Given the description of an element on the screen output the (x, y) to click on. 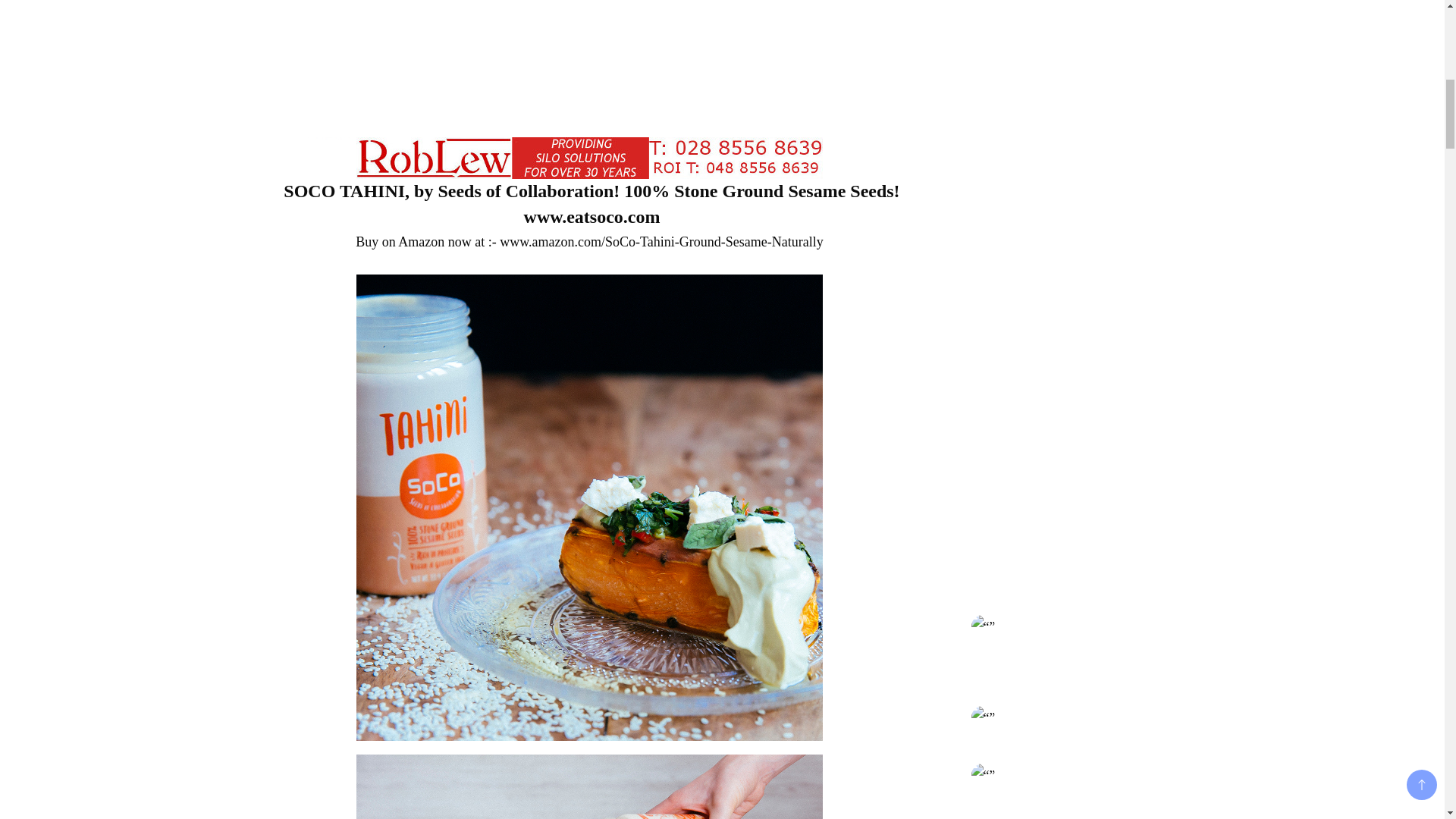
www.eatsoco.com (592, 216)
